Given the description of an element on the screen output the (x, y) to click on. 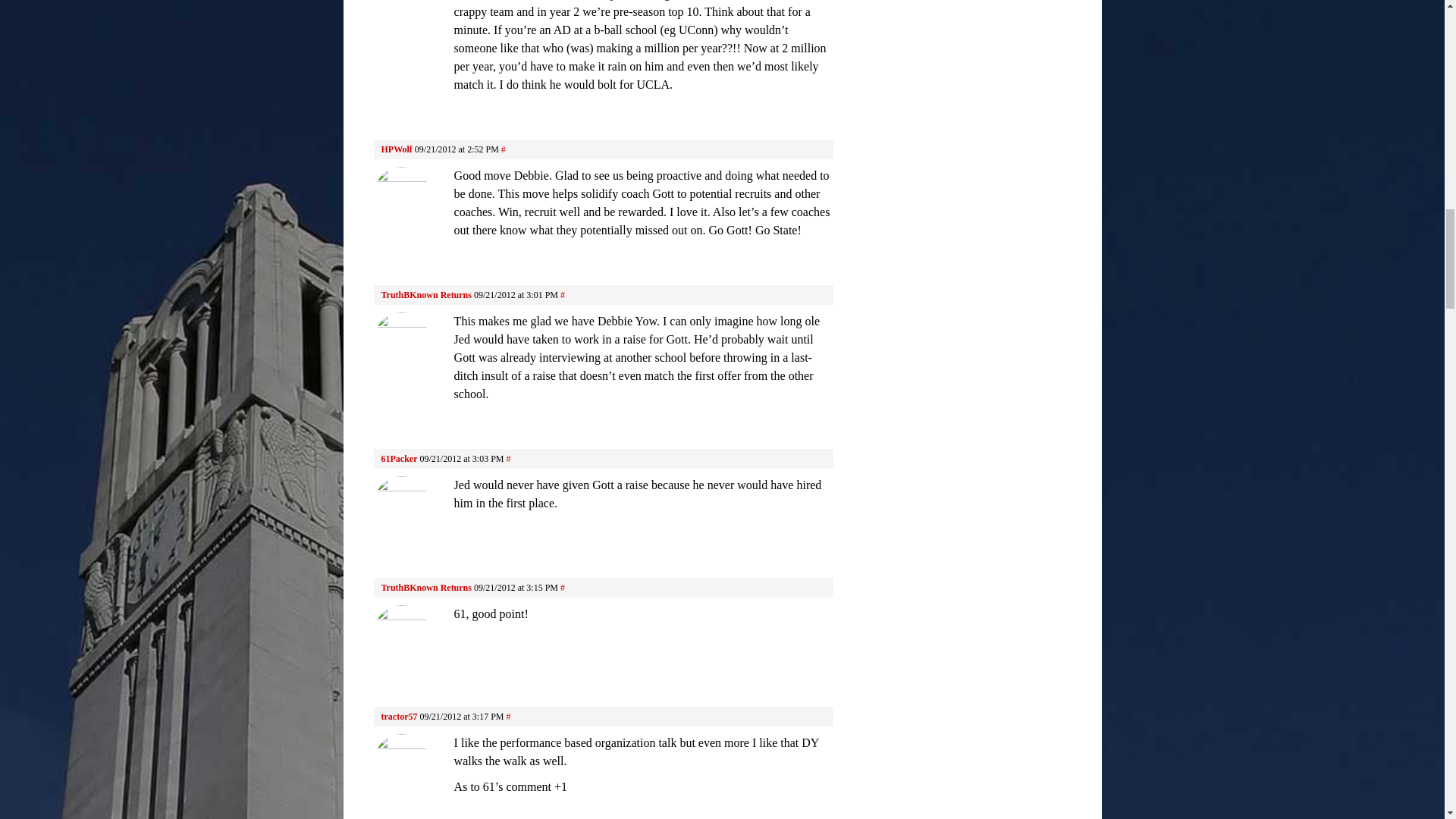
Direct link to this comment (508, 716)
Direct link to this comment (502, 149)
Direct link to this comment (508, 458)
Direct link to this comment (562, 294)
Direct link to this comment (562, 587)
